Given the description of an element on the screen output the (x, y) to click on. 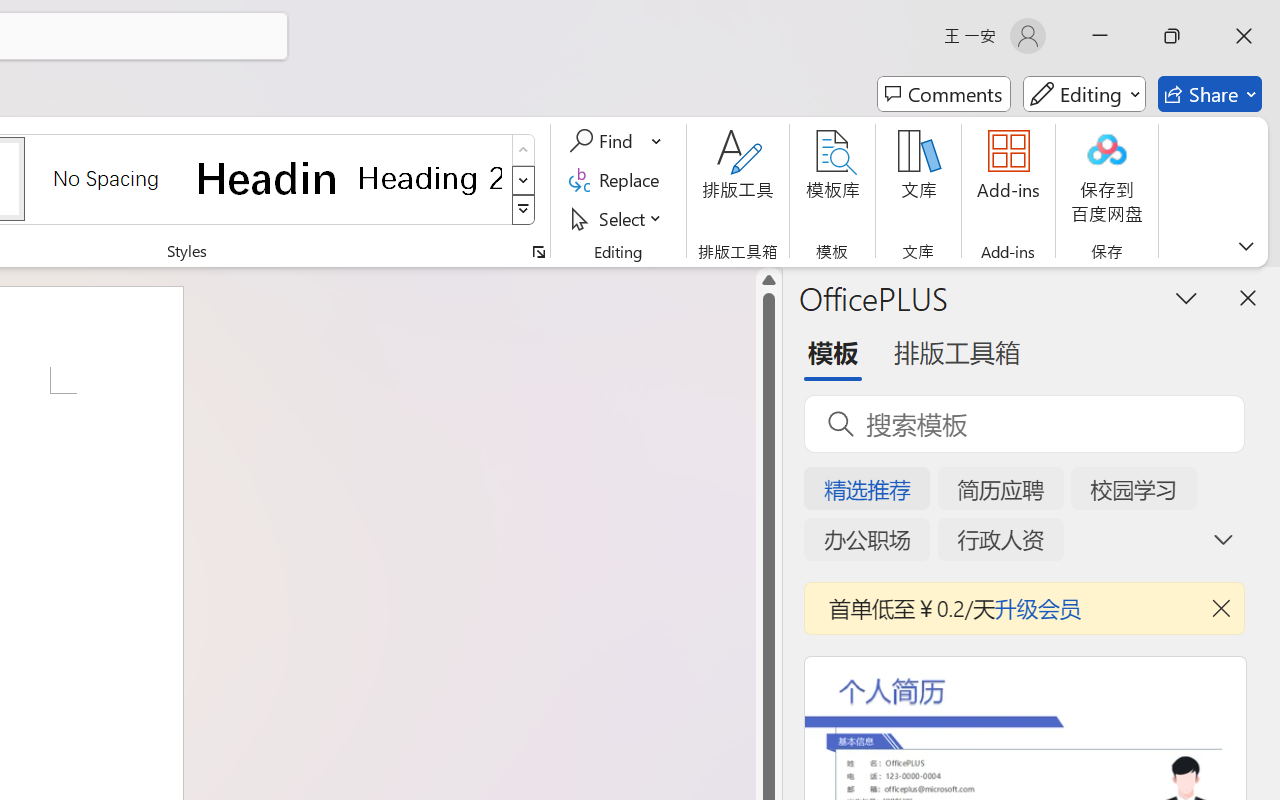
Restore Down (1172, 36)
Heading 1 (267, 178)
Heading 2 (429, 178)
